Given the description of an element on the screen output the (x, y) to click on. 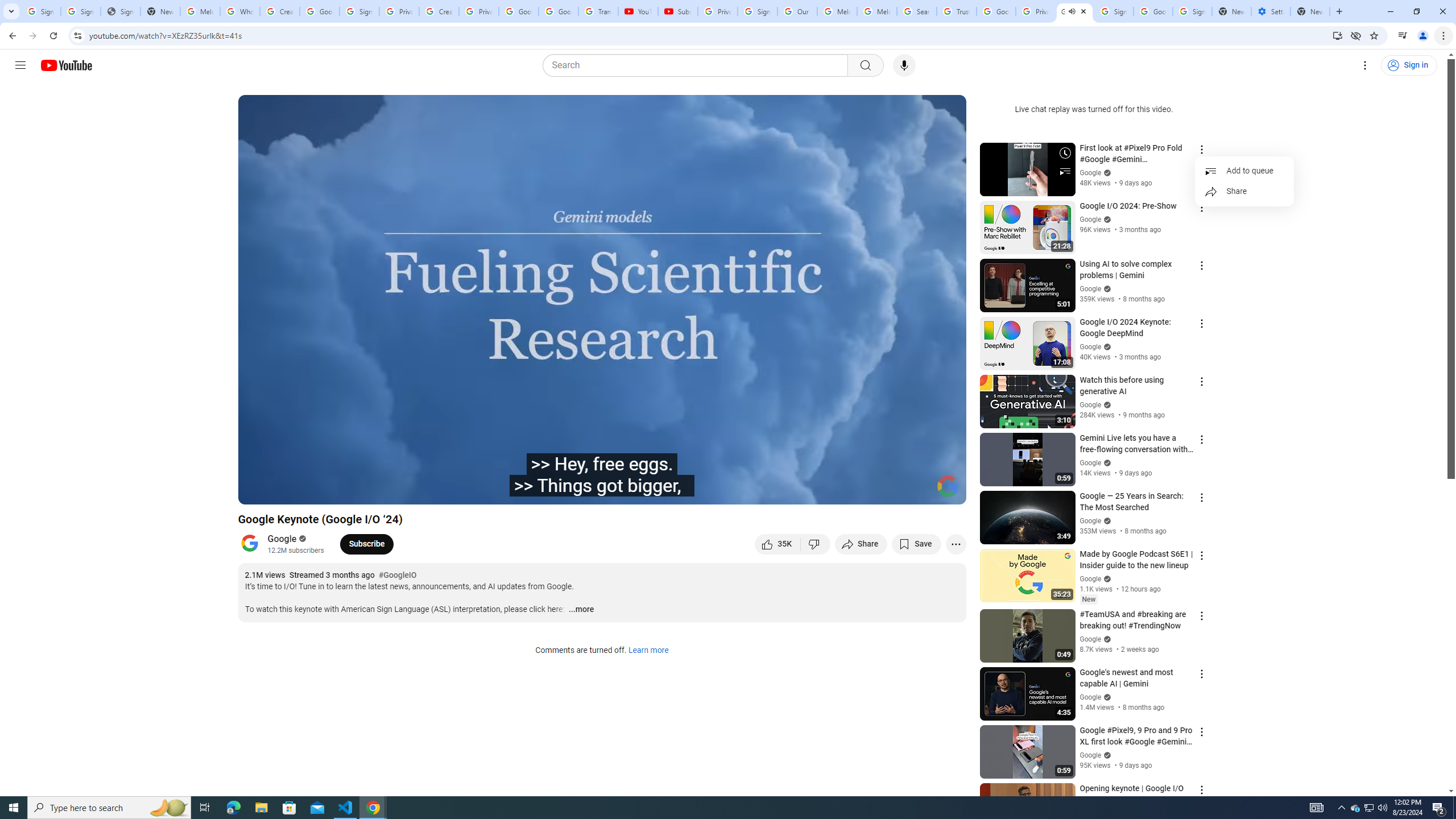
Action menu (1200, 789)
More actions (955, 543)
Google Cybersecurity Innovations - Google Safety Center (1152, 11)
Miniplayer (i) (890, 490)
like this video along with 35,367 other people (777, 543)
Learn more (647, 650)
Theater mode (t) (917, 490)
Google Ads - Sign in (995, 11)
Share (1243, 191)
